Given the description of an element on the screen output the (x, y) to click on. 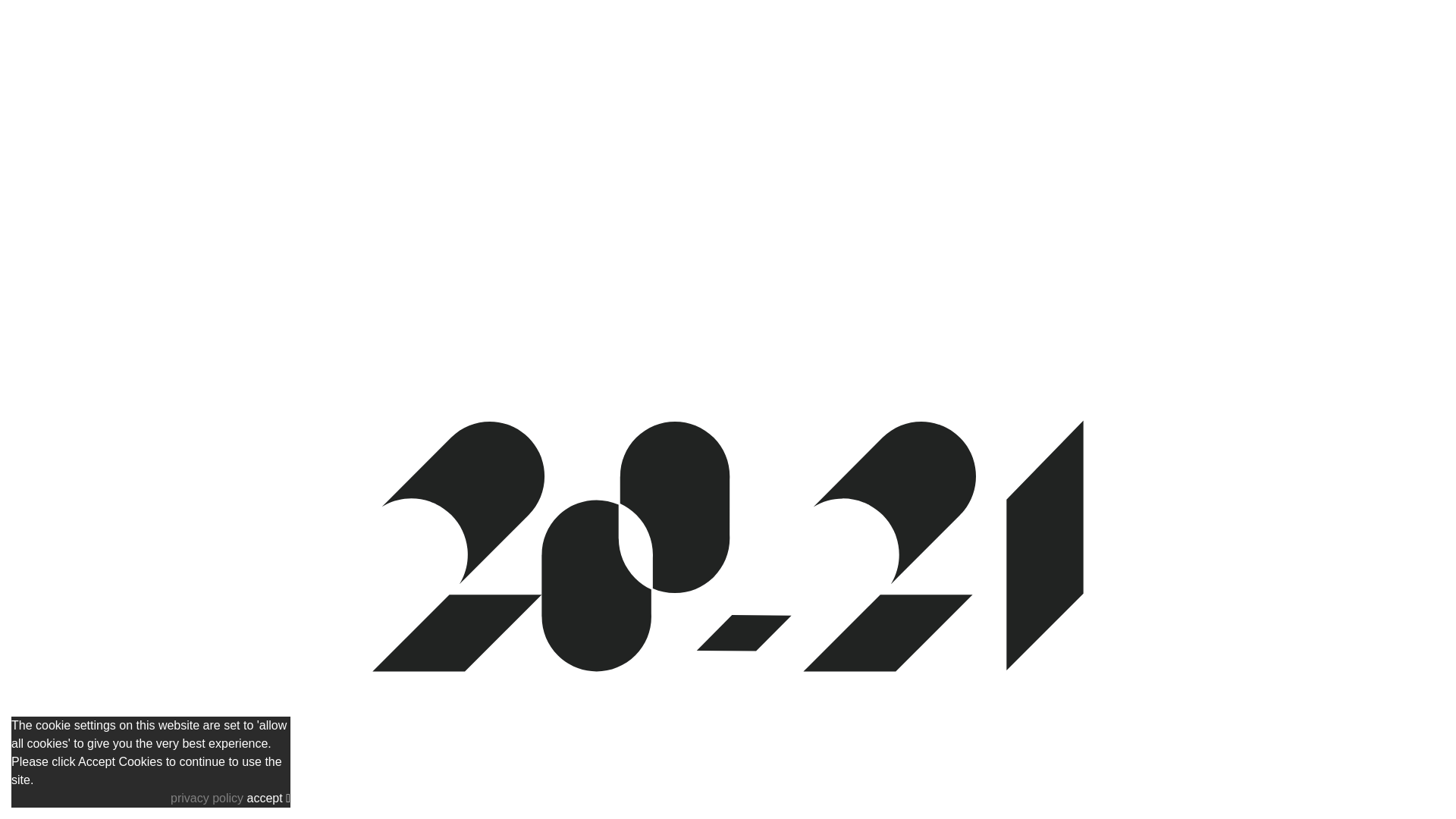
privacy policy Element type: text (208, 797)
